Given the description of an element on the screen output the (x, y) to click on. 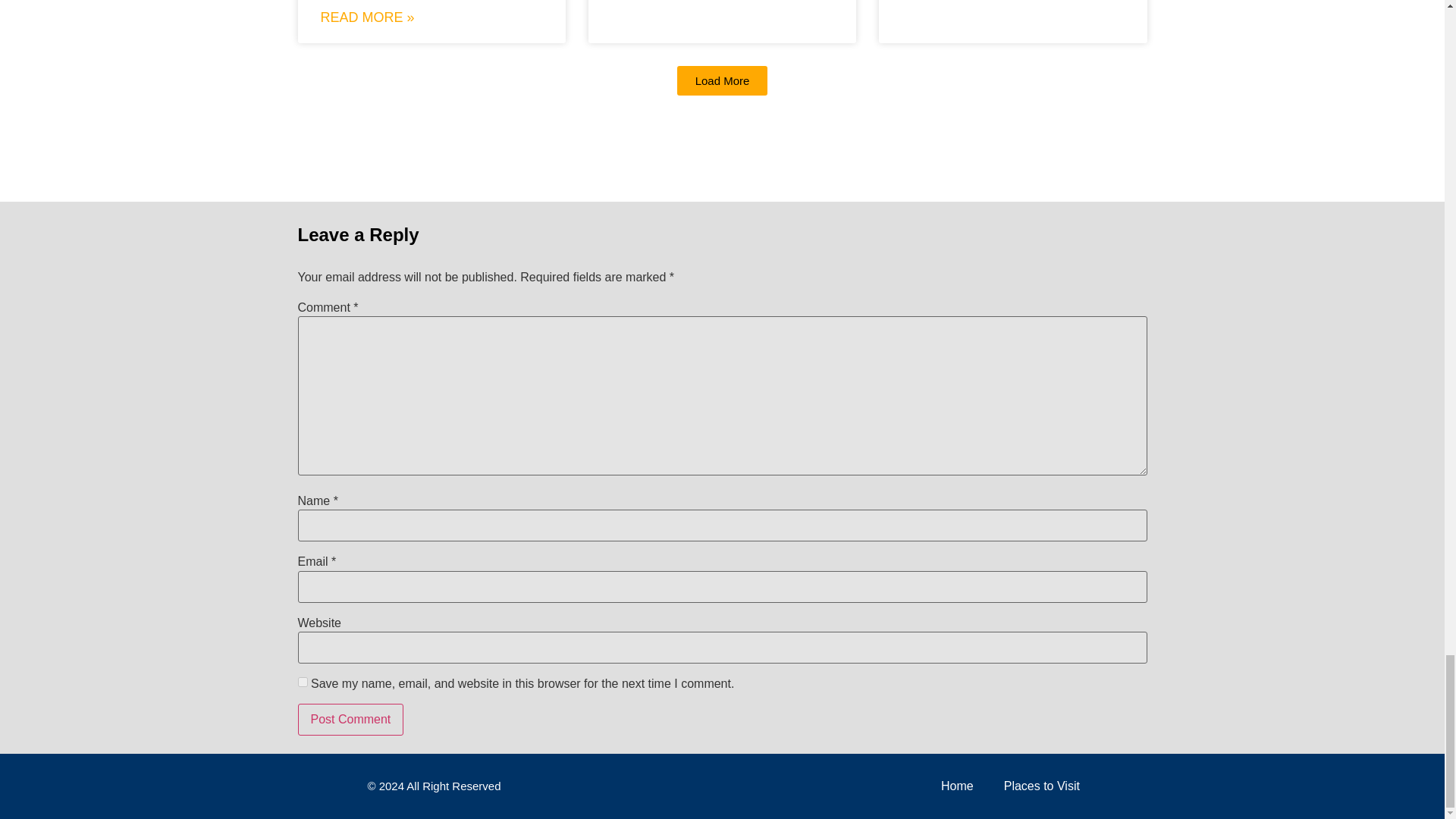
Load More (722, 80)
Places to Visit (1041, 786)
Home (957, 786)
yes (302, 682)
Post Comment (350, 719)
Post Comment (350, 719)
